Given the description of an element on the screen output the (x, y) to click on. 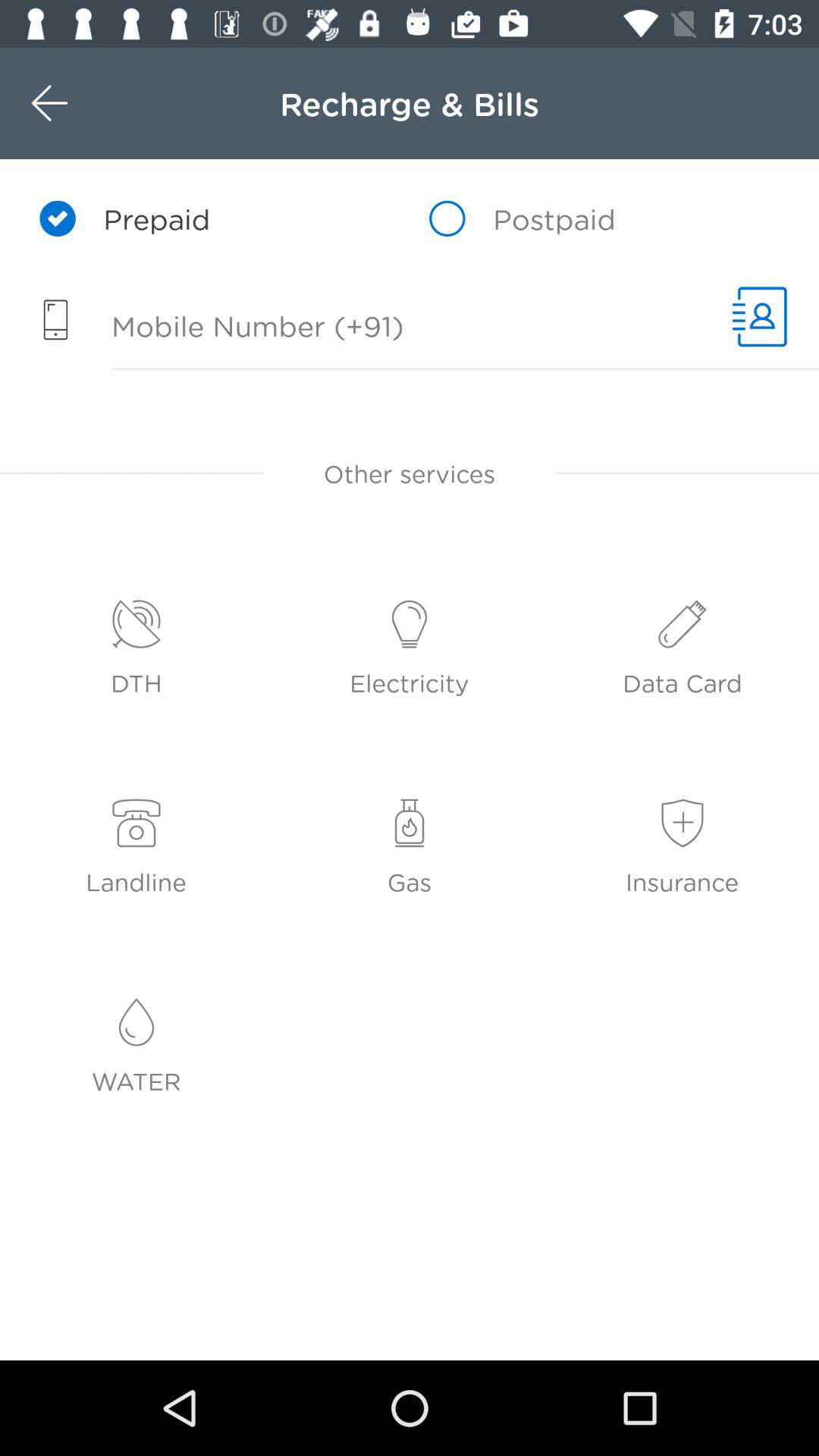
click icon next to the recharge & bills (81, 103)
